Given the description of an element on the screen output the (x, y) to click on. 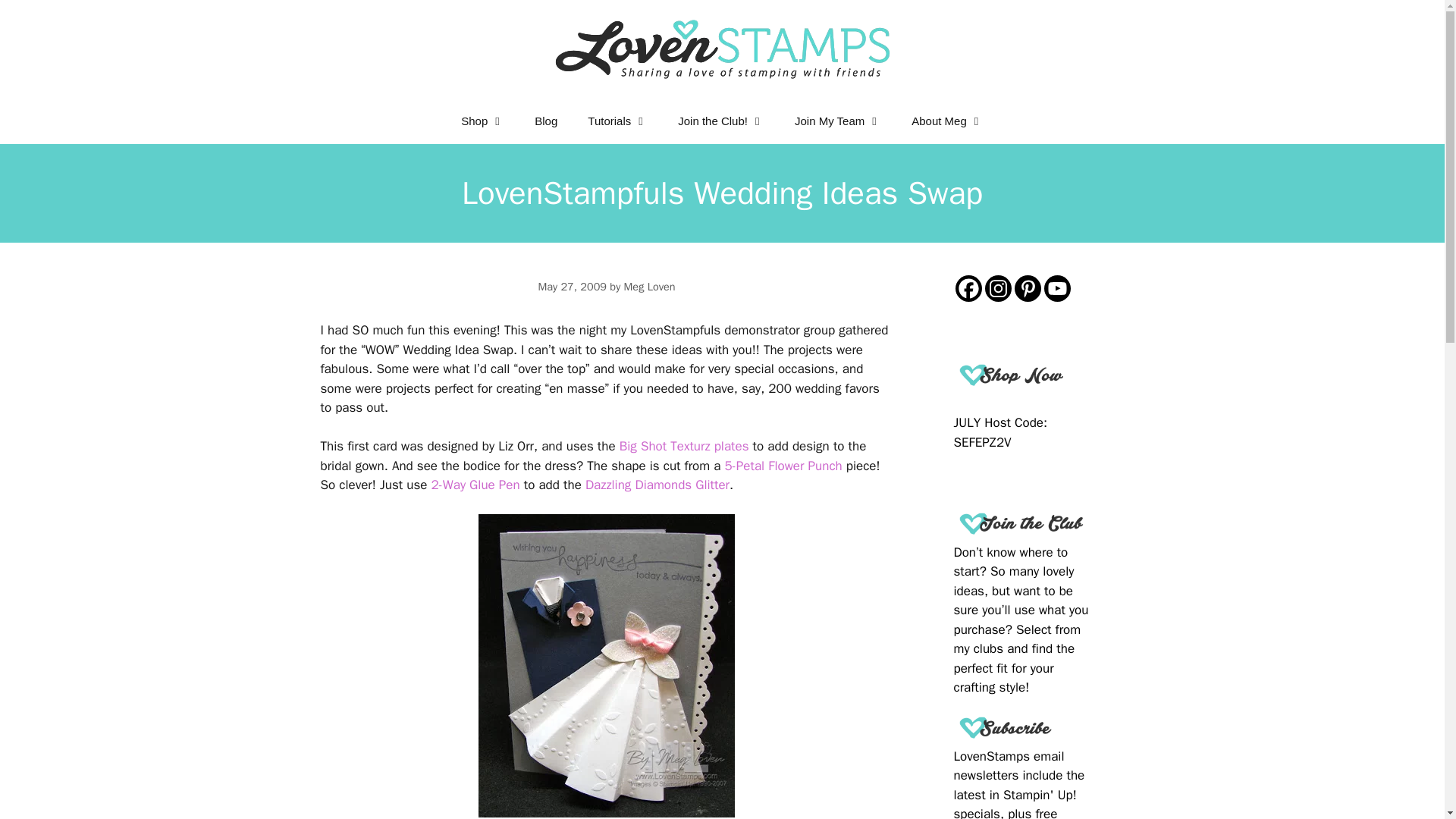
About Meg (947, 121)
Meg Loven (649, 286)
Blog (545, 121)
Join My Team (837, 121)
About Meg Loven (947, 121)
Shop (482, 121)
Tutorials (617, 121)
Join My Community and Have It ALL! (837, 121)
Join the Club! (720, 121)
